Given the description of an element on the screen output the (x, y) to click on. 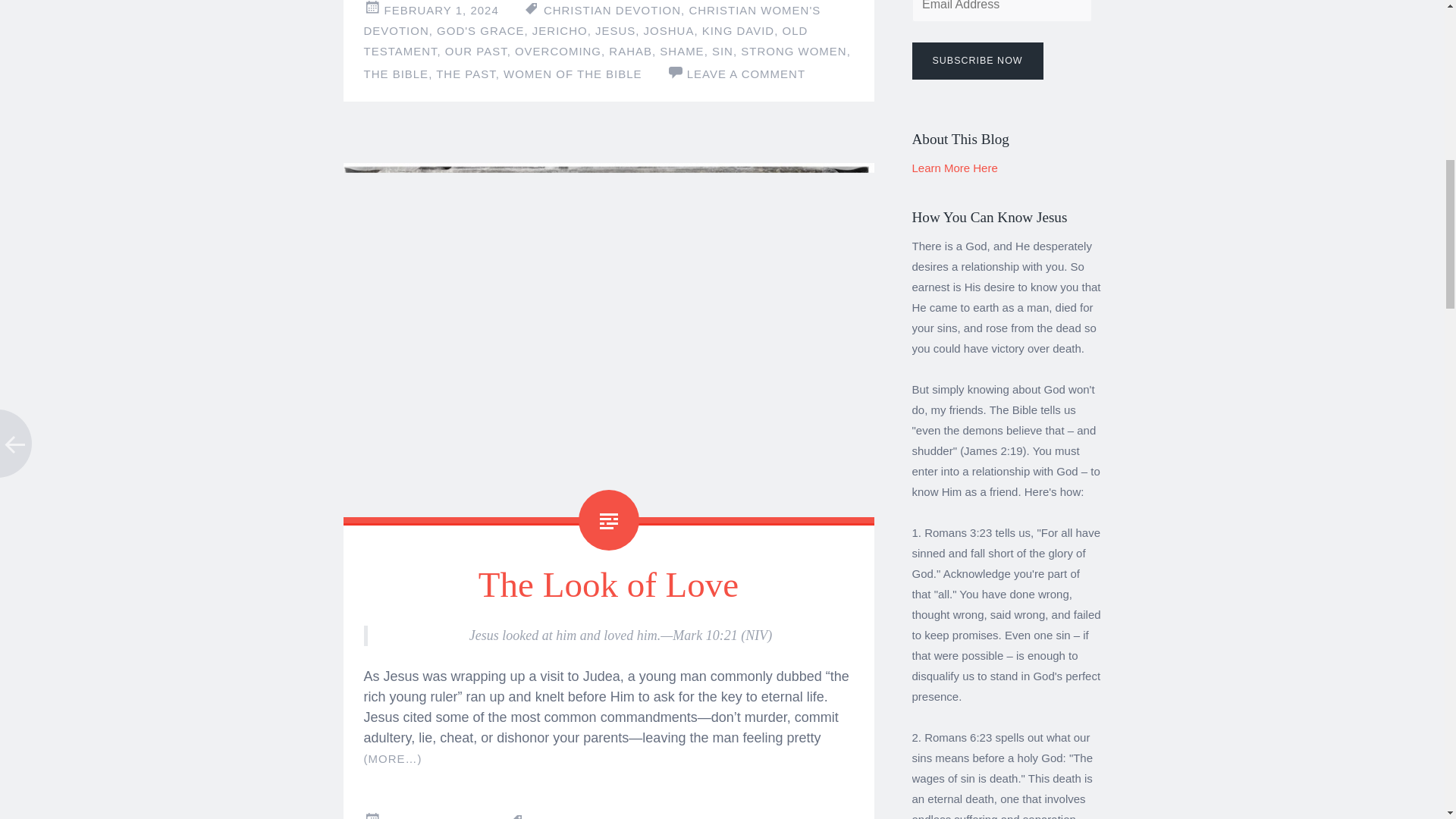
GOD'S GRACE (480, 30)
JERICHO (560, 30)
EASTER 2023 (713, 817)
MARCH 29, 2023 (433, 817)
The Look of Love (608, 584)
2:16 pm (440, 10)
2:51 pm (433, 817)
JESUS (614, 30)
EASTER (640, 817)
KING DAVID (737, 30)
